Given the description of an element on the screen output the (x, y) to click on. 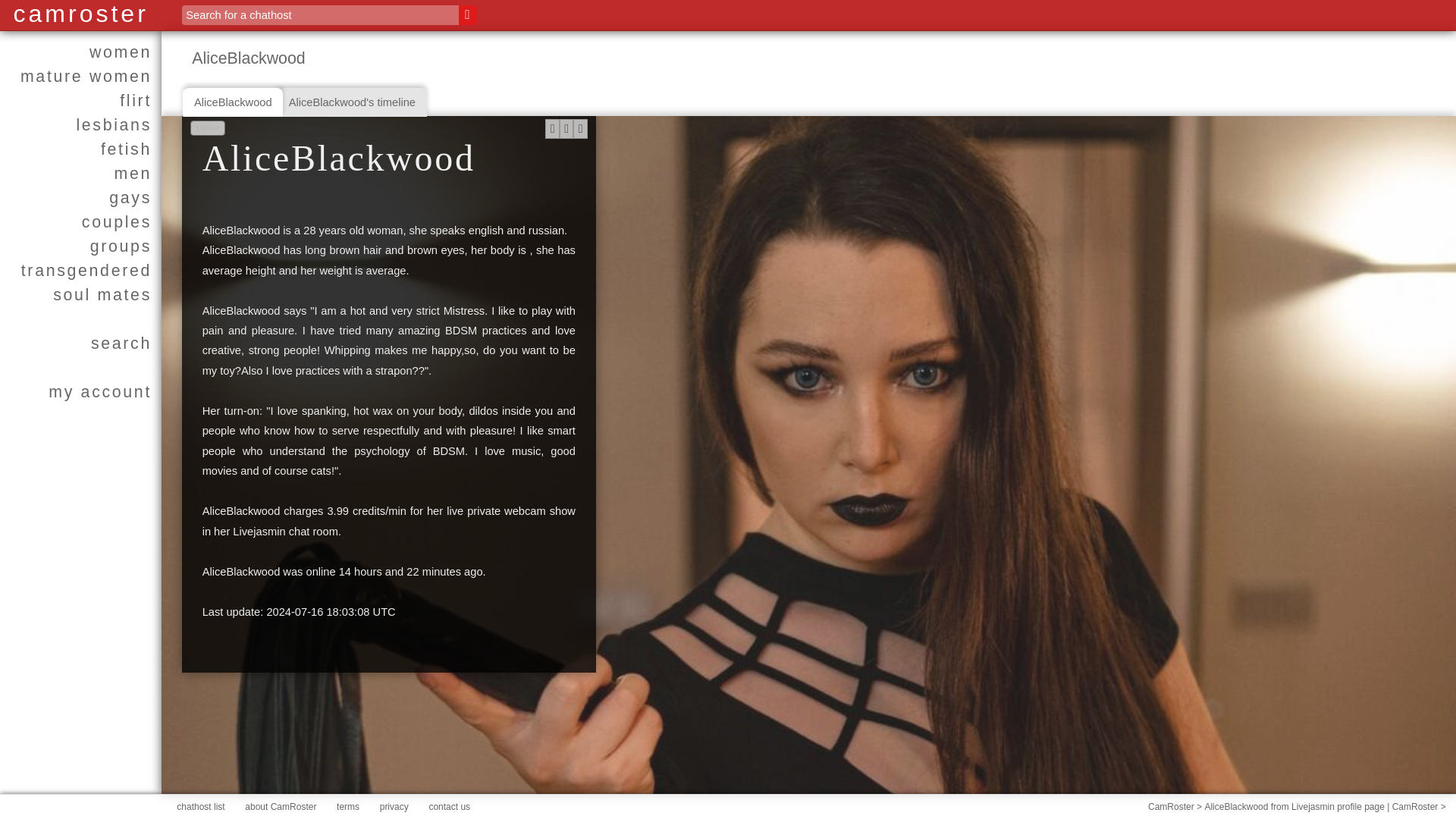
about CamRoster (279, 806)
transgendered (80, 270)
Men (80, 173)
women (80, 52)
groups (80, 246)
chathost list (200, 806)
transgendered (80, 270)
gays (80, 197)
detailed search (80, 343)
Lesbians (80, 125)
camroster (80, 13)
my account (80, 392)
Romantic chathosts (80, 100)
mature women (80, 76)
